Given the description of an element on the screen output the (x, y) to click on. 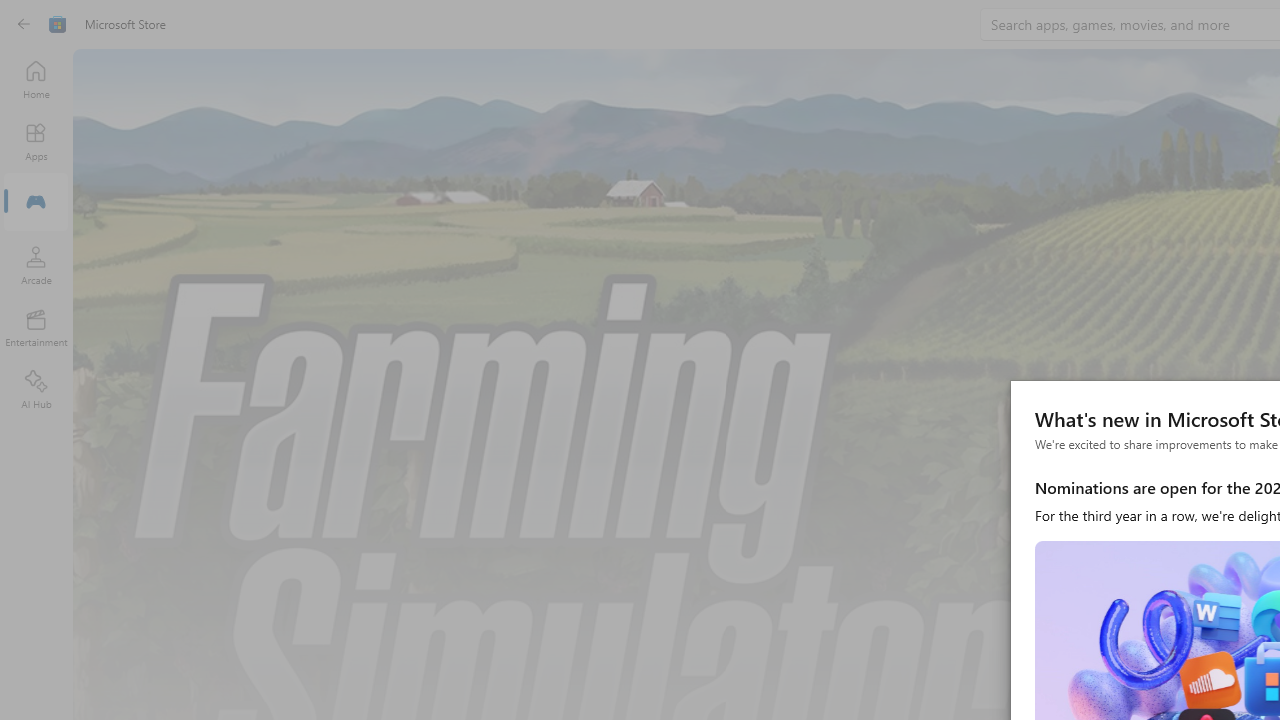
Back (24, 24)
